Given the description of an element on the screen output the (x, y) to click on. 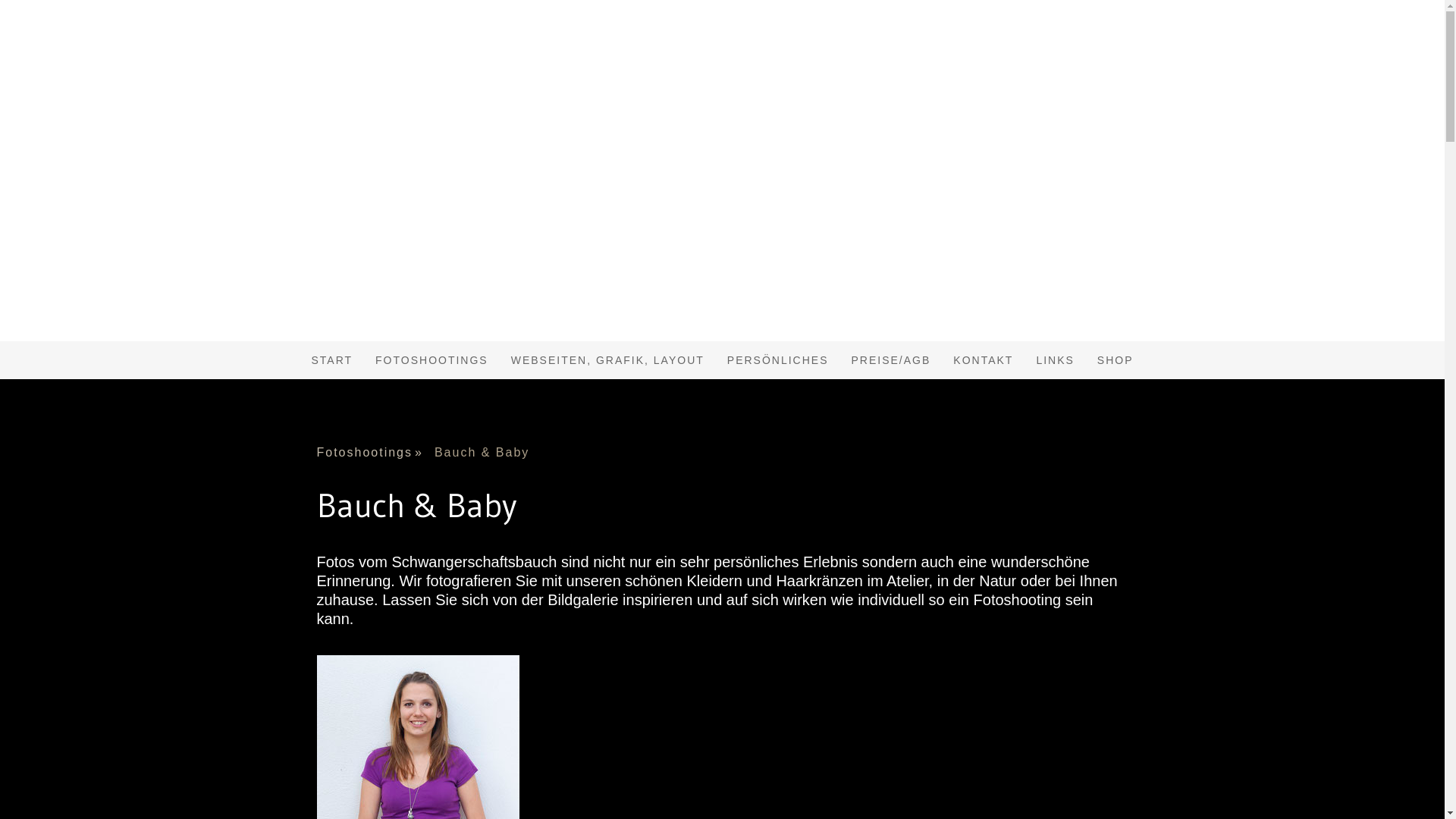
PREISE/AGB Element type: text (891, 360)
WEBSEITEN, GRAFIK, LAYOUT Element type: text (607, 360)
Bauch & Baby Element type: text (488, 452)
LINKS Element type: text (1054, 360)
SHOP Element type: text (1115, 360)
KONTAKT Element type: text (982, 360)
Fotoshootings Element type: text (375, 452)
START Element type: text (331, 360)
FOTOSHOOTINGS Element type: text (431, 360)
